Given the description of an element on the screen output the (x, y) to click on. 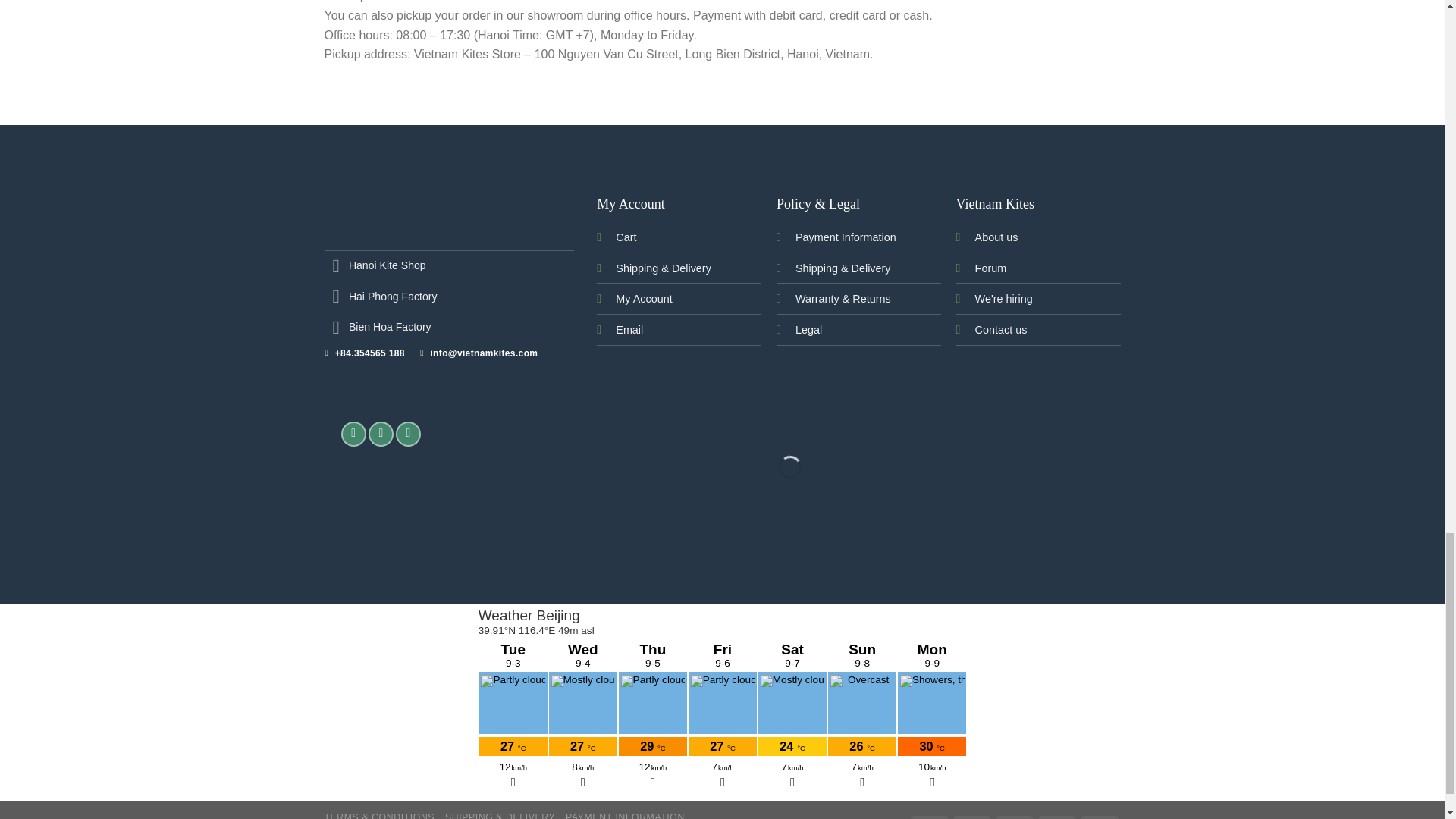
Follow on Facebook (353, 433)
Follow on TikTok (380, 433)
Follow on YouTube (408, 433)
